Given the description of an element on the screen output the (x, y) to click on. 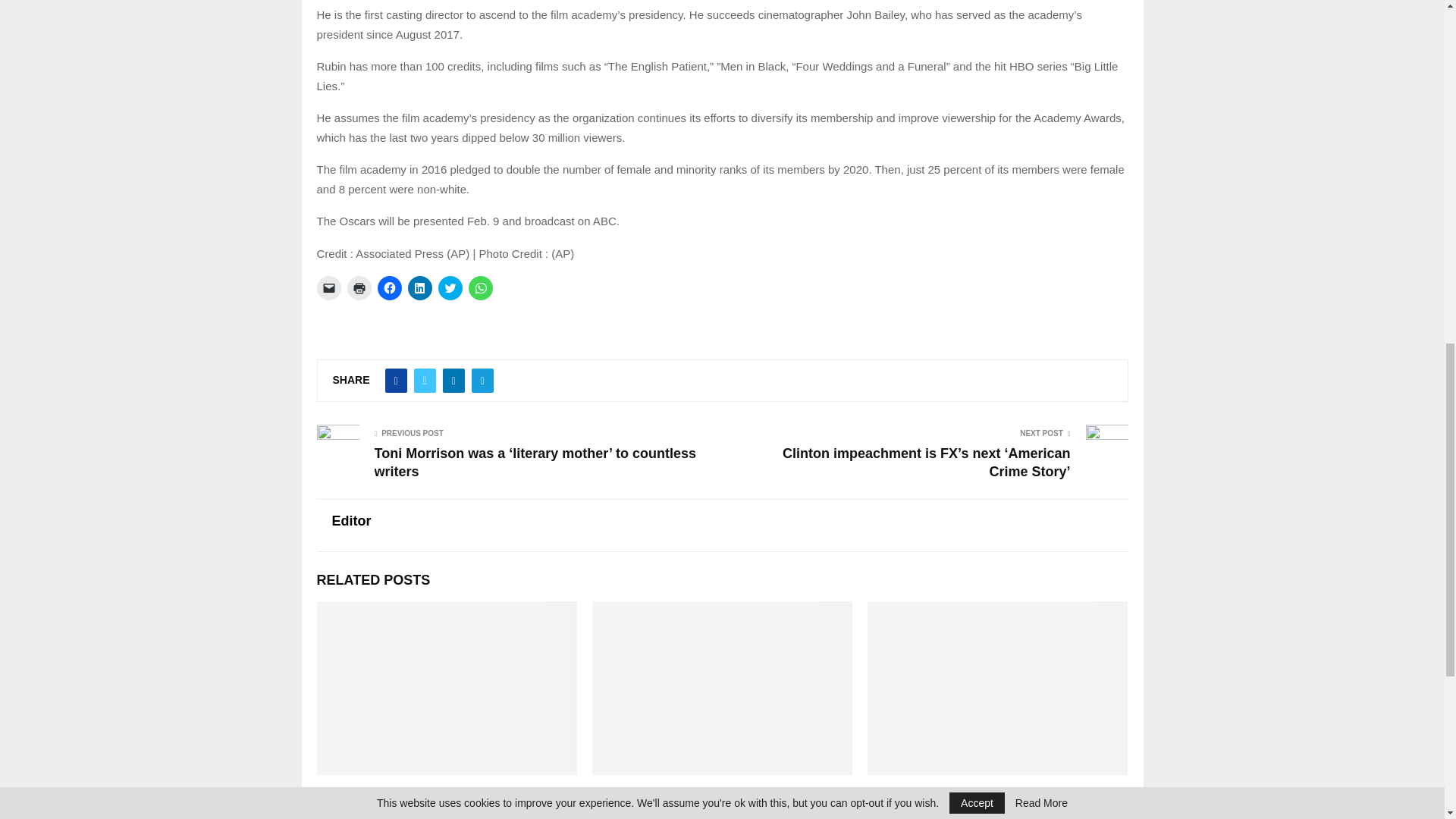
Click to share on LinkedIn (419, 288)
Click to print (359, 288)
Click to email a link to a friend (328, 288)
Click to share on Facebook (389, 288)
